Given the description of an element on the screen output the (x, y) to click on. 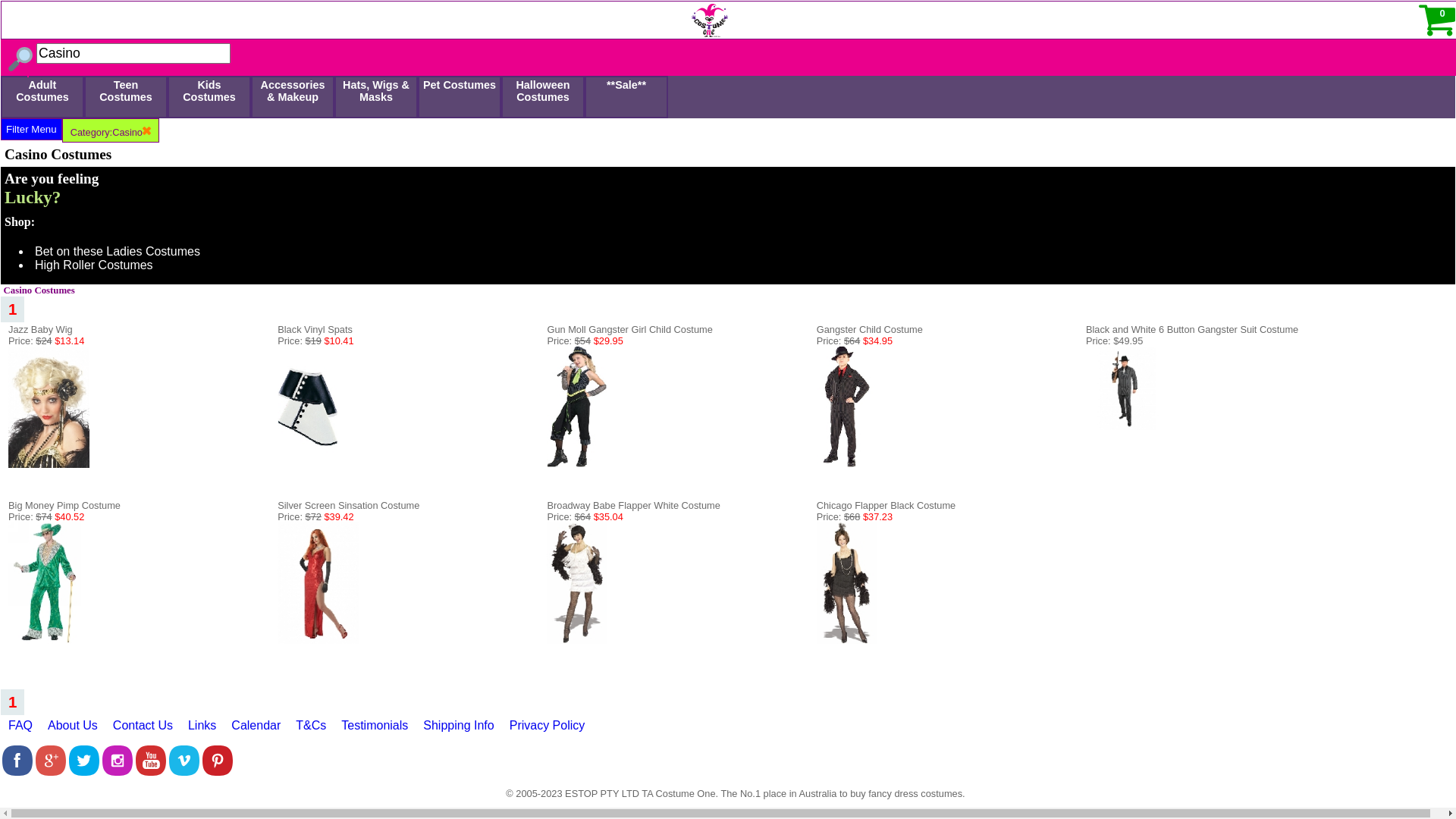
Quick Search Element type: text (36, 7)
Filter Menu Element type: text (31, 129)
Bet on these Ladies Costumes Element type: text (117, 251)
Broadway Babe Flapper White Costume Element type: text (632, 505)
Visit CostumeOne on YouTube Element type: hover (150, 771)
Adult Costumes Element type: text (42, 96)
Kids Costumes Element type: text (209, 96)
Gangster Child Costume Element type: text (869, 329)
Jazz Baby Wig Element type: text (40, 329)
Black and White 6 Button Gangster Suit Costume Element type: text (1191, 329)
Jazz Baby Wig Element type: hover (48, 464)
Pet Costumes Element type: text (459, 96)
Hats, Wigs & Masks Element type: text (375, 96)
Halloween Costumes Element type: text (542, 96)
Price: $64 $35.04 Element type: text (584, 516)
Black Vinyl Spats Element type: text (314, 329)
Price: $72 $39.42 Element type: text (315, 516)
Visit CostumeOne on Instagram Element type: hover (117, 771)
Visit CostumeOne on Google+ Element type: hover (50, 771)
Privacy Policy Element type: text (547, 729)
Black Vinyl Spats Element type: hover (307, 406)
Price: $68 $37.23 Element type: text (854, 516)
Visit CostumeOne on Pinterest Element type: hover (217, 771)
Jazz Baby Wig Element type: hover (48, 406)
Shipping Info Element type: text (458, 729)
Gun Moll Gangster Girl Child Costume Element type: hover (576, 464)
Broadway Babe Flapper White Costume Element type: hover (576, 640)
Big Money Pimp Costume Element type: hover (44, 582)
Black and White 6 Button Gangster Suit Costume Element type: hover (1127, 426)
About Us Element type: text (72, 729)
Chicago Flapper Black Costume Element type: text (886, 505)
Silver Screen Sinsation Costume Element type: text (348, 505)
Silver Screen Sinsation Costume Element type: hover (317, 582)
Contact Us Element type: text (142, 729)
**Sale** Element type: text (626, 96)
1 Element type: text (12, 309)
Price: $24 $13.14 Element type: text (46, 340)
FAQ Element type: text (20, 729)
Testimonials Element type: text (374, 729)
Price: $54 $29.95 Element type: text (584, 340)
Visit CostumeOne on Twitter Element type: hover (84, 771)
Visit CostumeOne on Vimeo Element type: hover (184, 771)
Click to return home and delete all search filters Element type: hover (364, 17)
Gangster Child Costume Element type: hover (846, 464)
Calendar Element type: text (255, 729)
High Roller Costumes Element type: text (93, 264)
Black Vinyl Spats Element type: hover (307, 464)
Visit CostumeOne on Facebook Element type: hover (17, 771)
Black and White 6 Button Gangster Suit Costume Element type: hover (1127, 387)
Price: $19 $10.41 Element type: text (315, 340)
Chicago Flapper Black Costume Element type: hover (846, 640)
Broadway Babe Flapper White Costume Element type: hover (576, 582)
Big Money Pimp Costume Element type: hover (44, 640)
Gun Moll Gangster Girl Child Costume Element type: hover (576, 406)
Chicago Flapper Black Costume Element type: hover (846, 582)
Accessories & Makeup Element type: text (292, 96)
1 Element type: text (12, 702)
Category:Casino Element type: text (110, 130)
Teen Costumes Element type: text (125, 96)
Links Element type: text (201, 729)
Gangster Child Costume Element type: hover (846, 406)
Price: $49.95 Element type: text (1113, 340)
Big Money Pimp Costume Element type: text (64, 505)
Gun Moll Gangster Girl Child Costume Element type: text (629, 329)
Silver Screen Sinsation Costume Element type: hover (317, 640)
Price: $64 $34.95 Element type: text (854, 340)
Price: $74 $40.52 Element type: text (46, 516)
T&Cs Element type: text (310, 729)
